Given the description of an element on the screen output the (x, y) to click on. 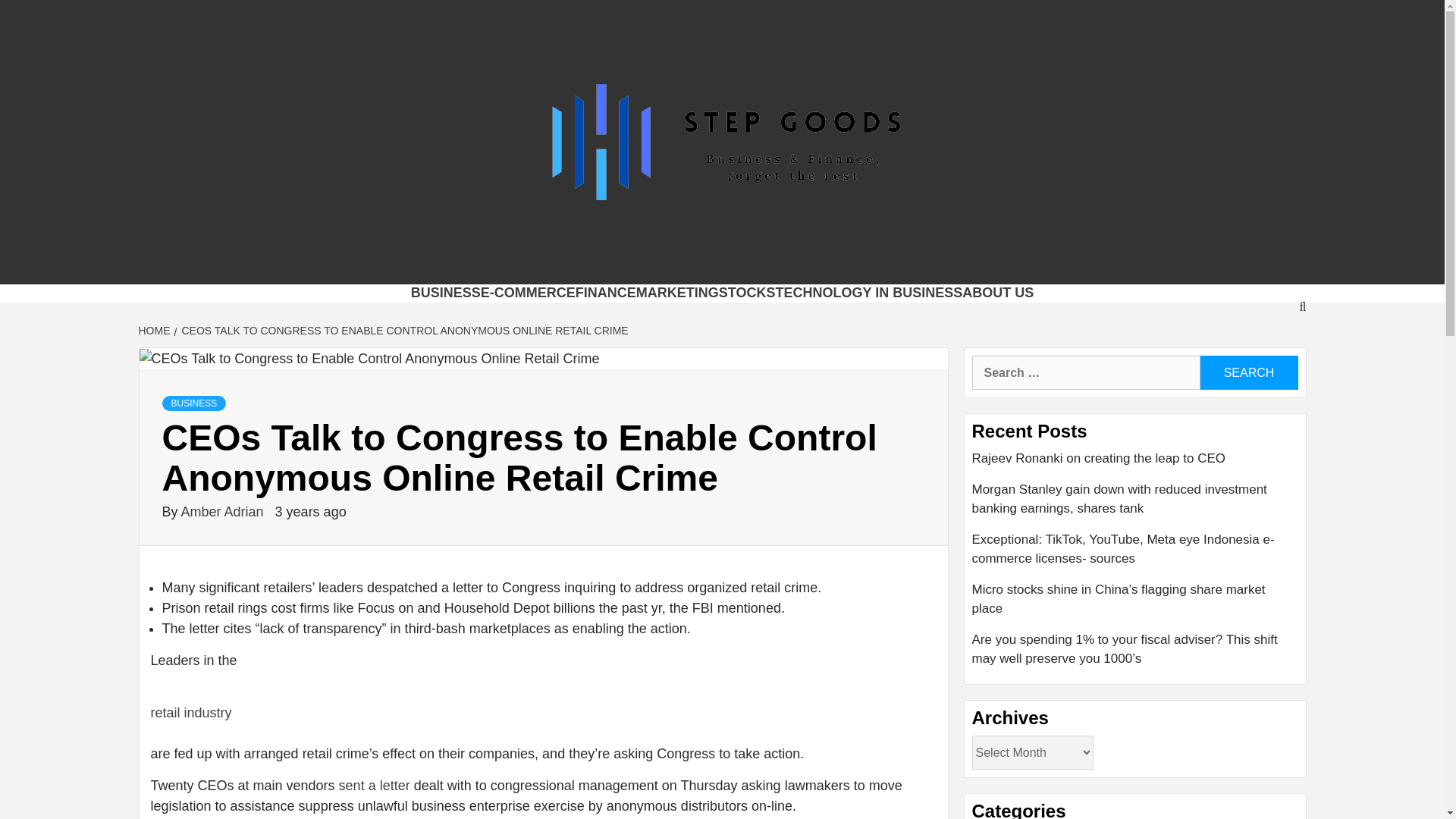
BUSINESS (194, 403)
BUSINESS (445, 292)
Search (1248, 372)
Amber Adrian (223, 511)
E-COMMERCE (527, 292)
ABOUT US (997, 292)
FINANCE (605, 292)
STEP GOODS (391, 264)
MARKETING (677, 292)
retail industry (190, 712)
STOCKS (747, 292)
